Given the description of an element on the screen output the (x, y) to click on. 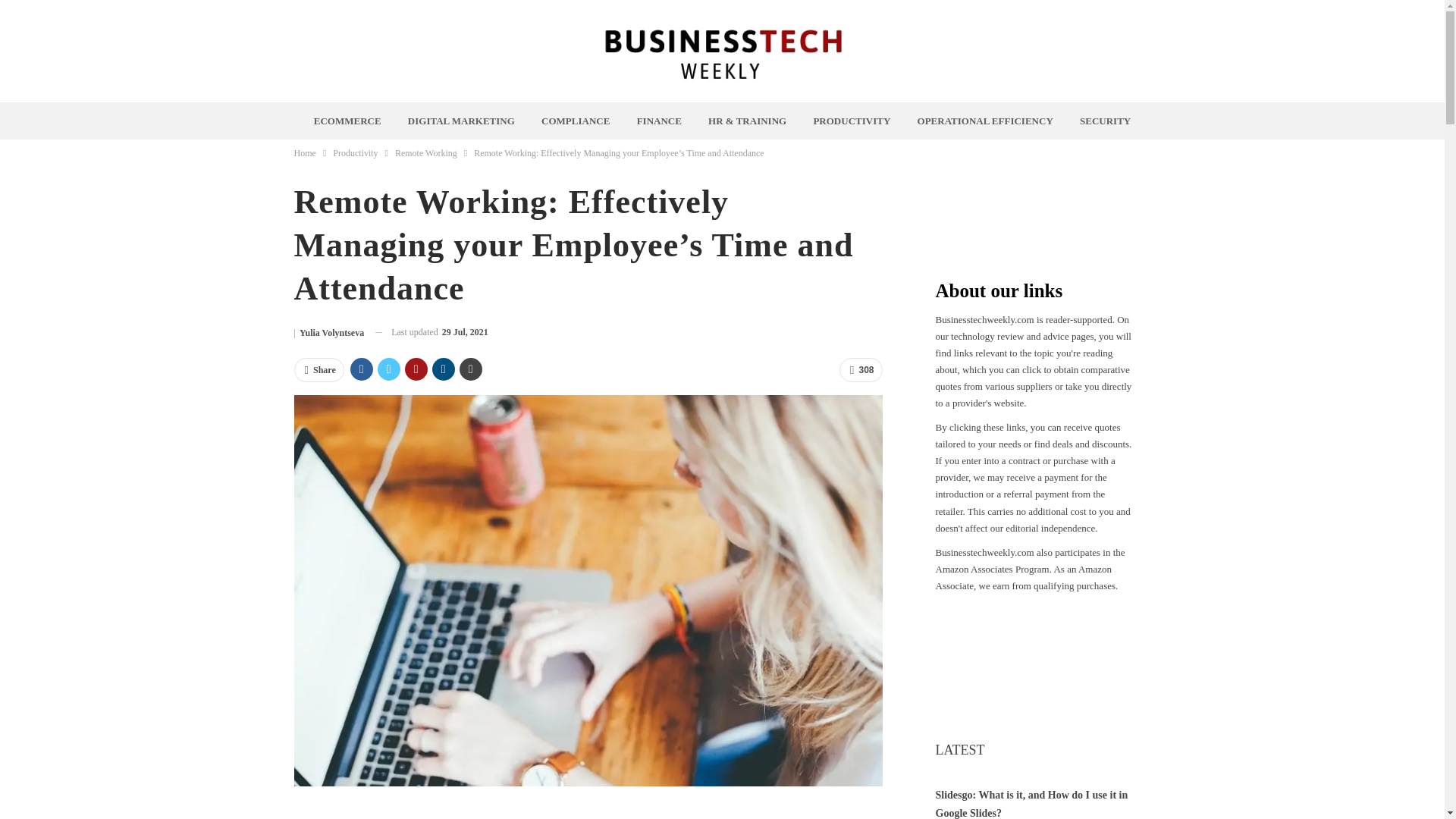
SECURITY (1105, 121)
Productivity (355, 152)
Home (304, 152)
Browse Author Articles (329, 332)
DIGITAL MARKETING (461, 121)
PRODUCTIVITY (851, 121)
FINANCE (658, 121)
ECOMMERCE (347, 121)
COMPLIANCE (575, 121)
Remote Working (425, 152)
